Given the description of an element on the screen output the (x, y) to click on. 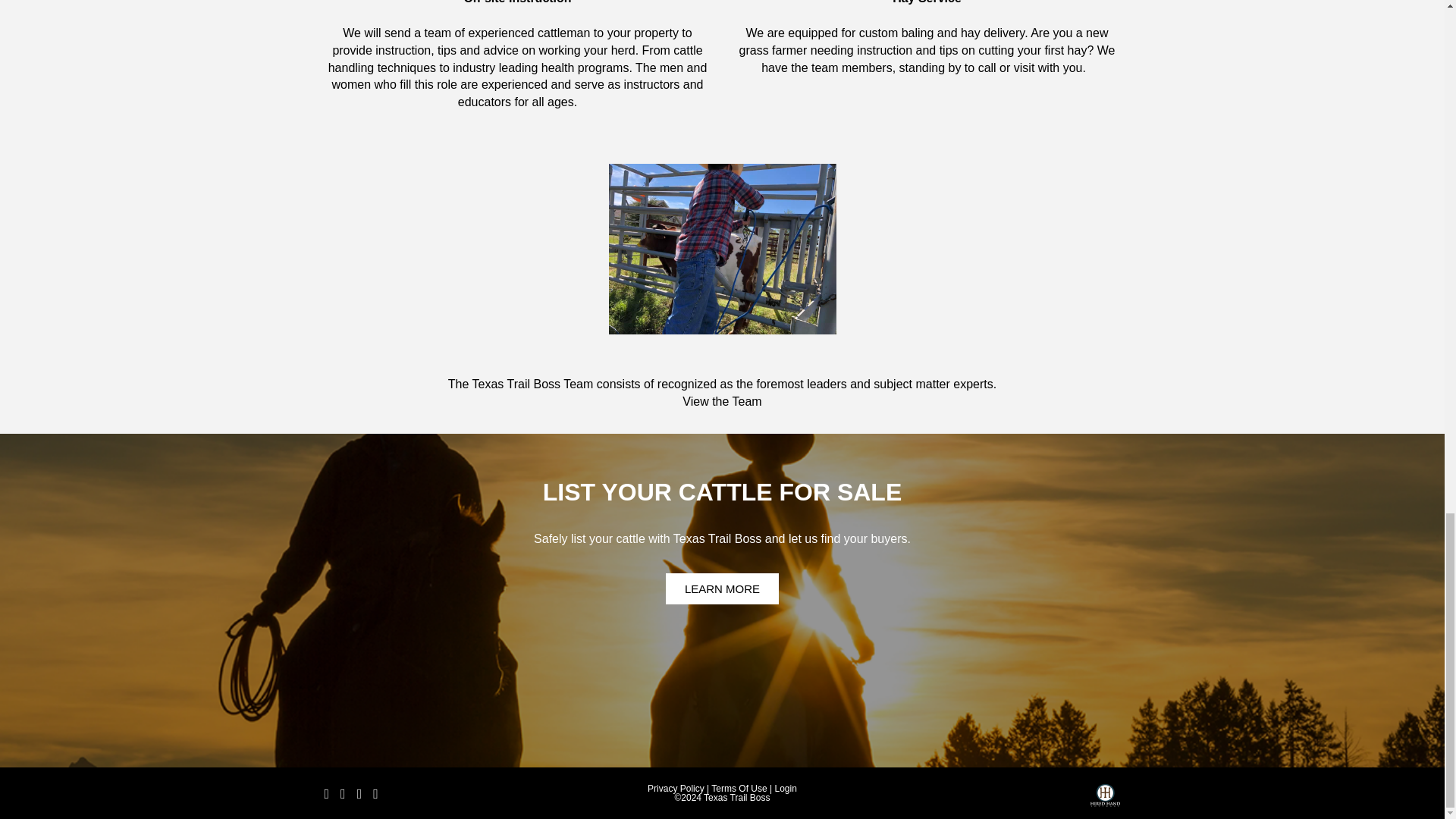
View the Team (721, 400)
Login (785, 787)
Terms Of Use (739, 787)
Hired Hand Software (1104, 794)
Hired Hand Software (1104, 800)
LEARN MORE (721, 588)
Privacy Policy (675, 787)
LEARN MORE (721, 588)
